Given the description of an element on the screen output the (x, y) to click on. 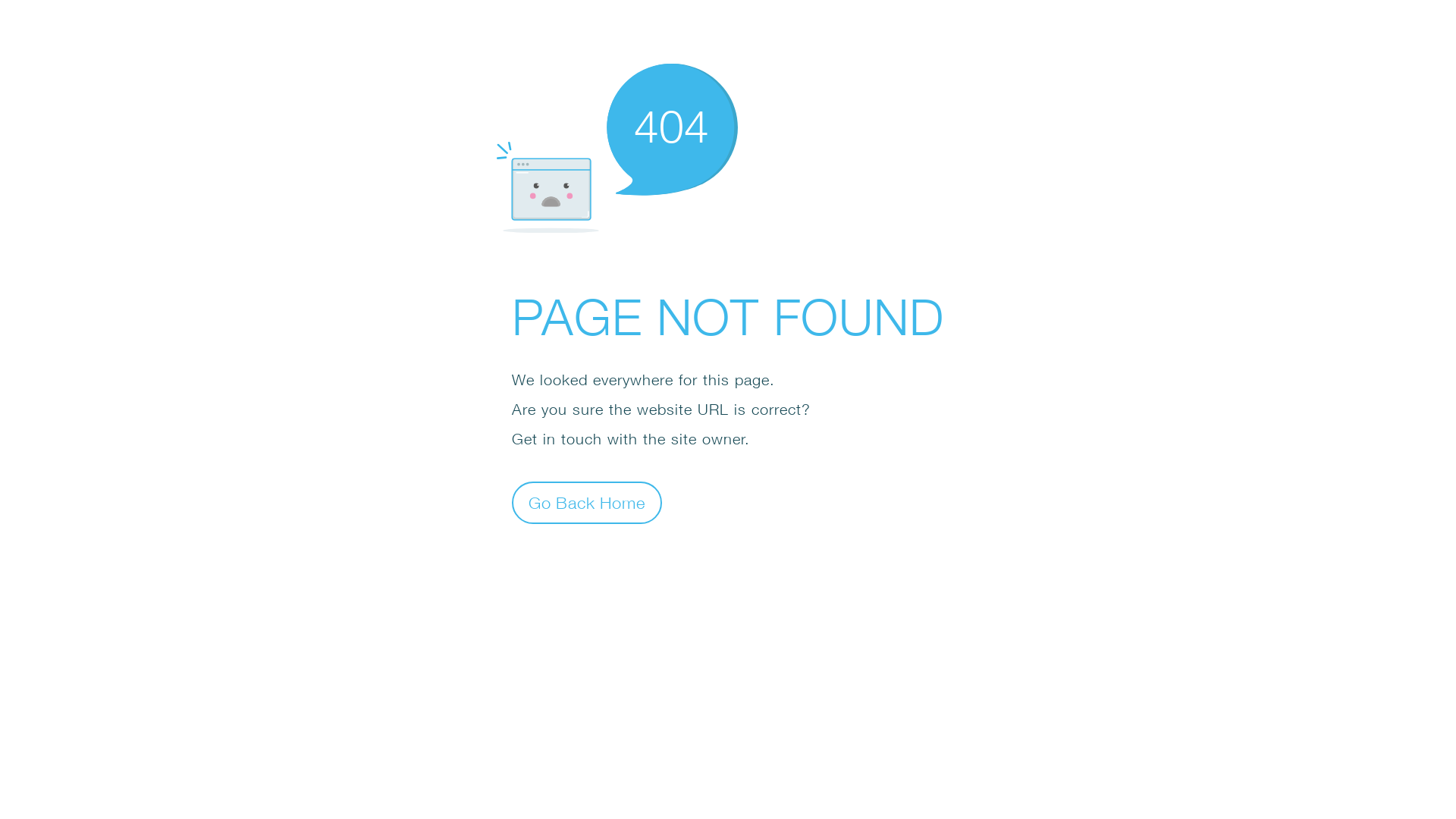
Go Back Home Element type: text (586, 502)
